Given the description of an element on the screen output the (x, y) to click on. 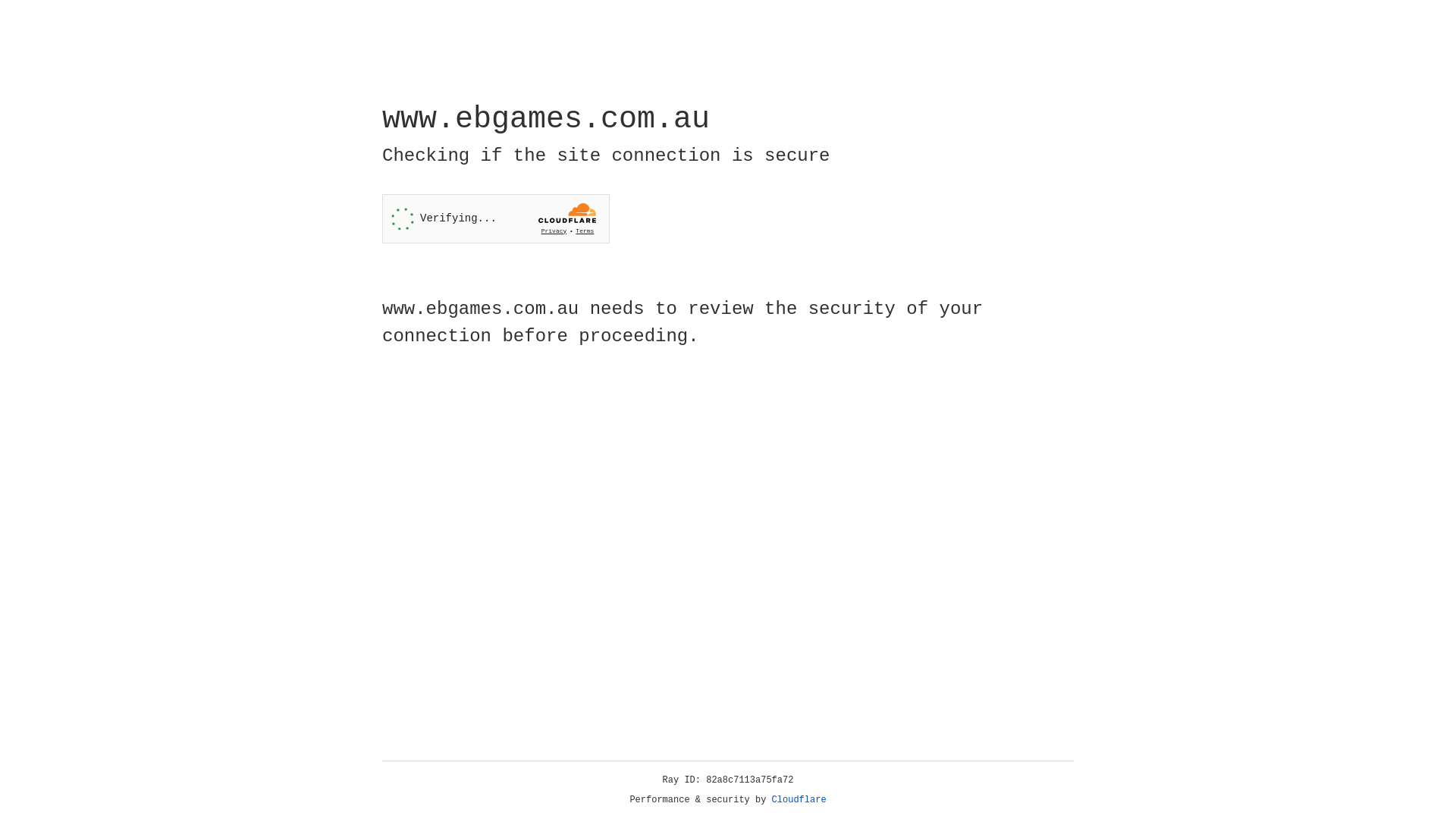
Cloudflare Element type: text (798, 799)
Widget containing a Cloudflare security challenge Element type: hover (495, 218)
